Given the description of an element on the screen output the (x, y) to click on. 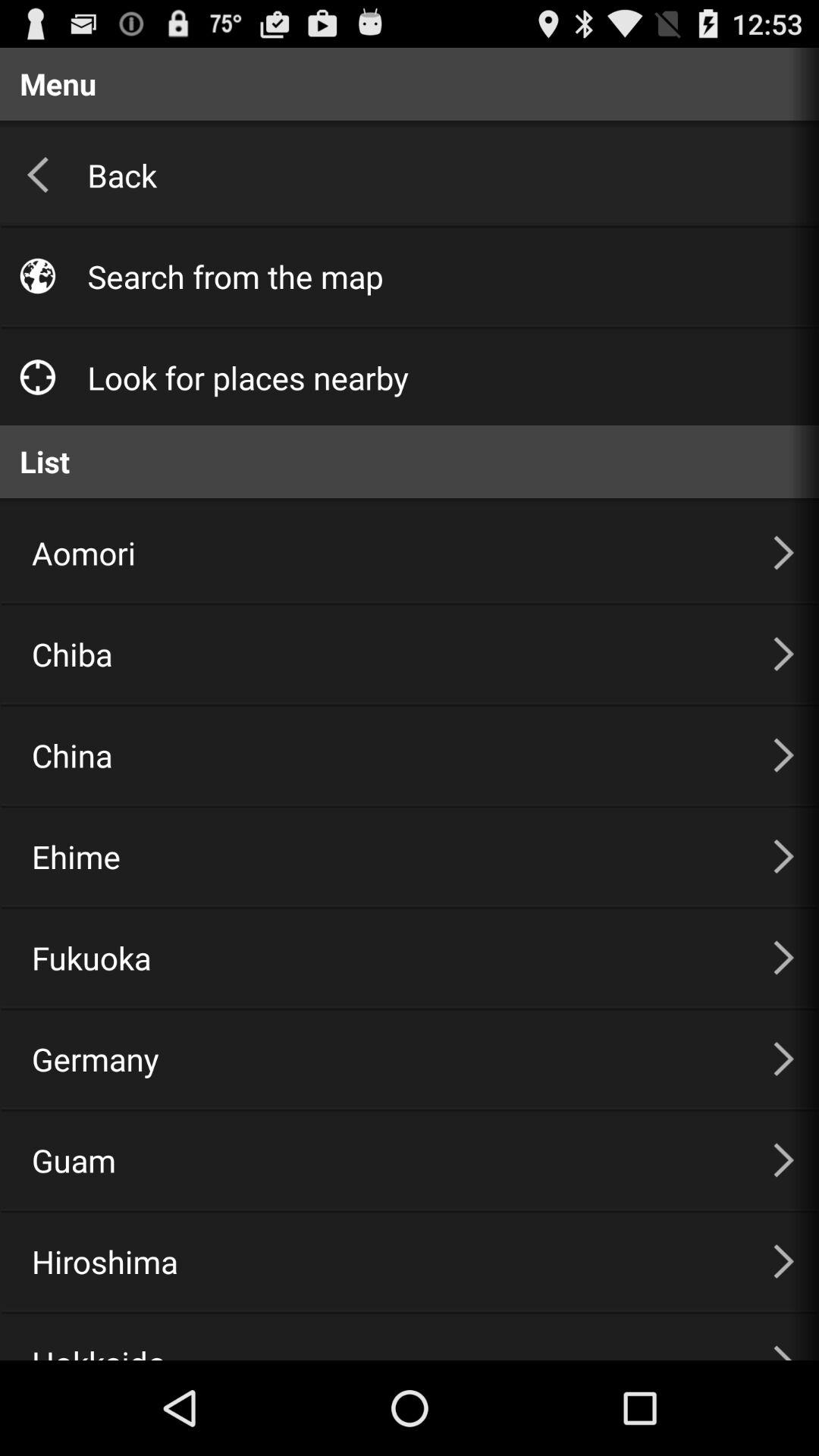
scroll until search from the item (437, 276)
